Given the description of an element on the screen output the (x, y) to click on. 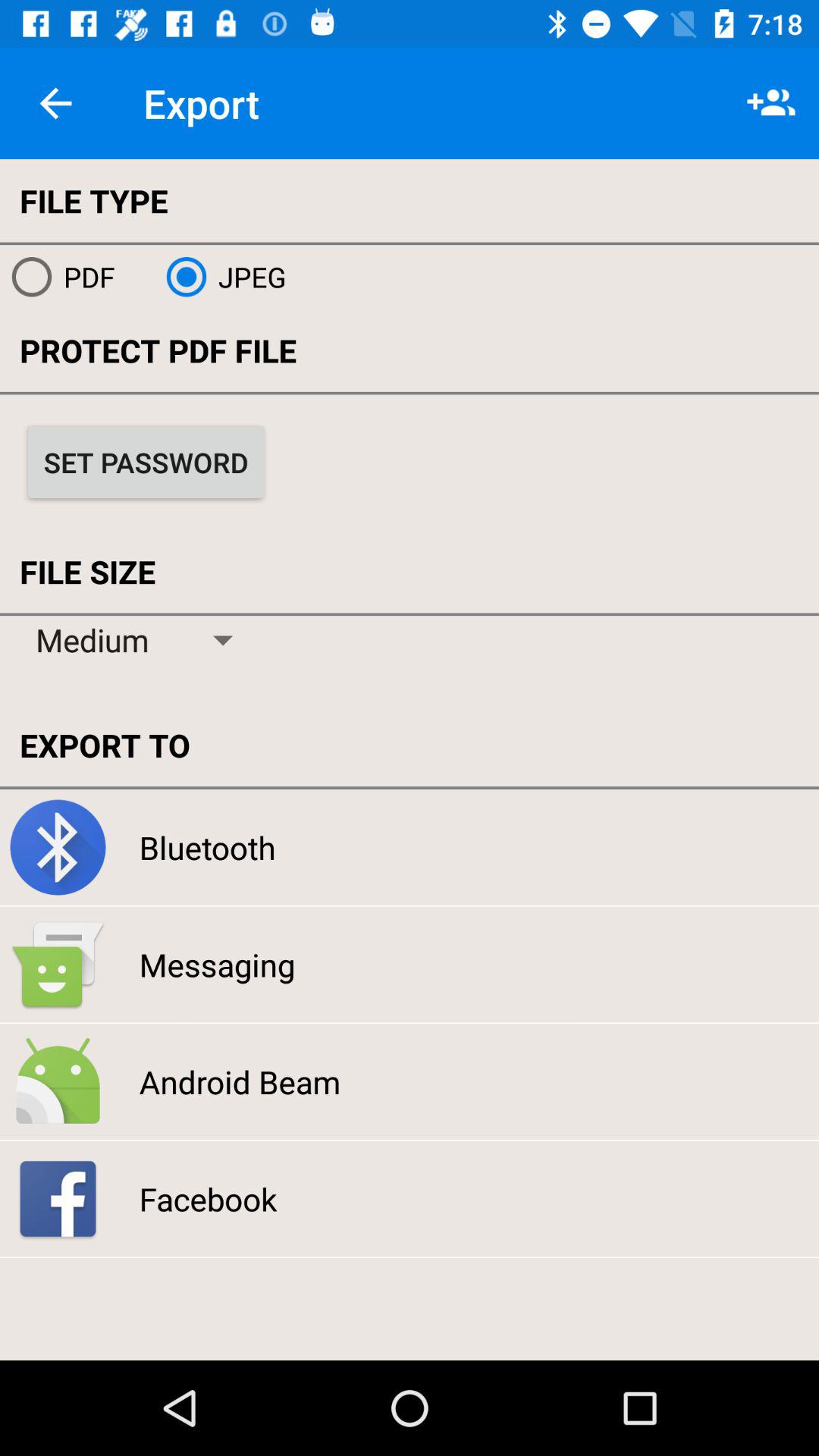
click the item to the left of export icon (55, 103)
